Given the description of an element on the screen output the (x, y) to click on. 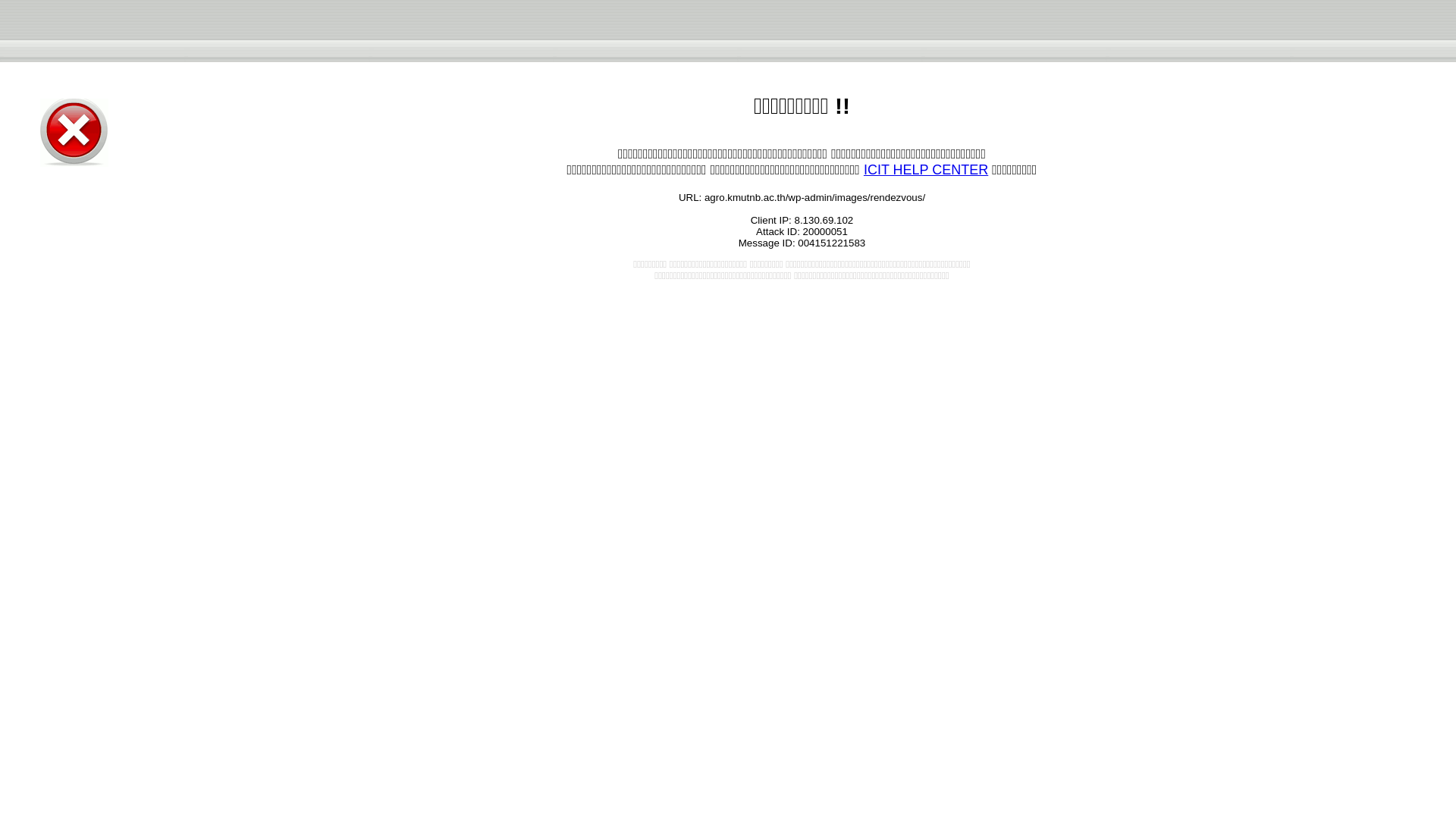
ICIT HELP CENTER (925, 169)
